Given the description of an element on the screen output the (x, y) to click on. 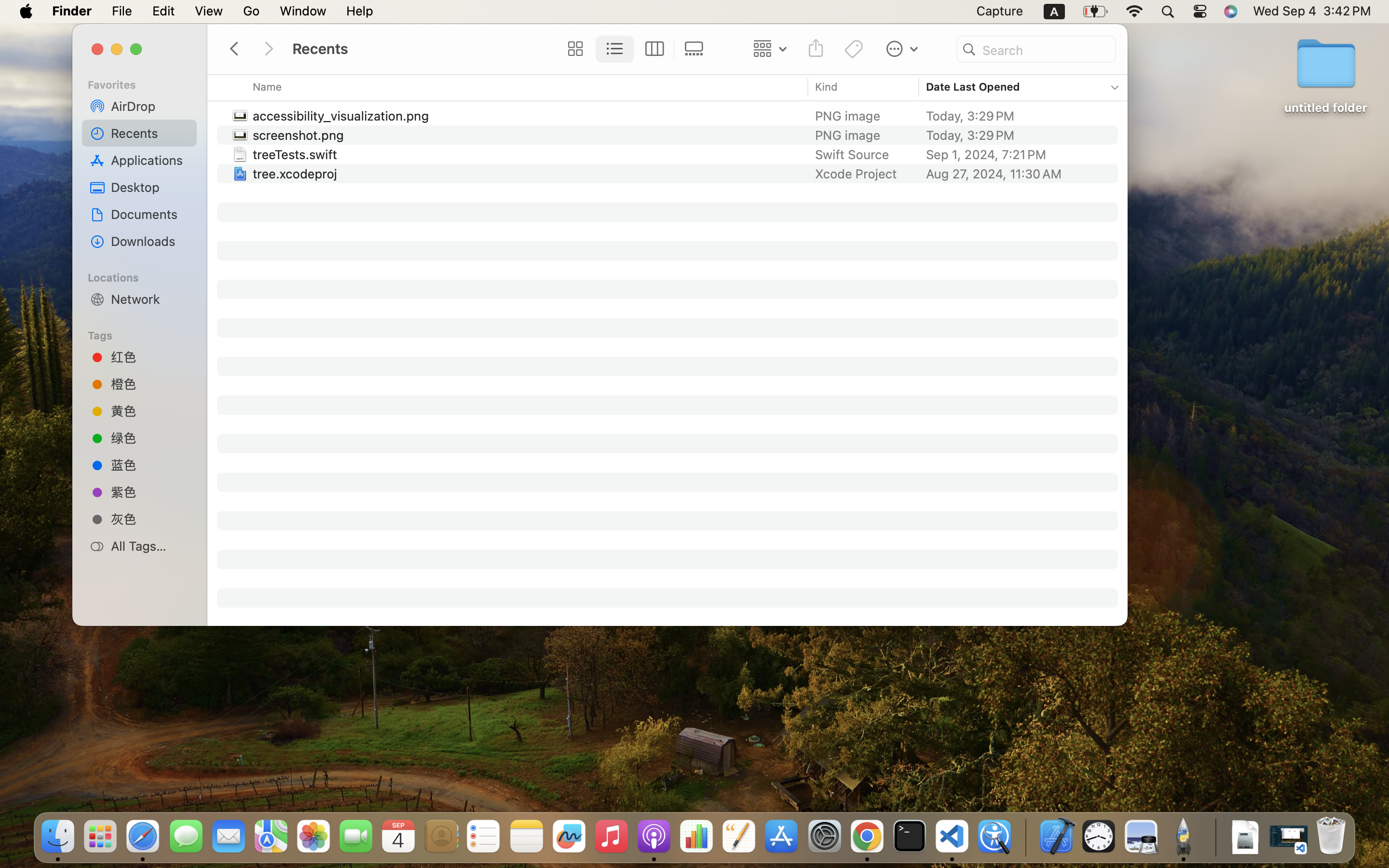
screenshot.png Element type: AXTextField (300, 134)
All Tags… Element type: AXStaticText (149, 545)
红色 Element type: AXStaticText (149, 356)
AirDrop Element type: AXStaticText (149, 105)
treeTests.swift Element type: AXTextField (296, 154)
